Given the description of an element on the screen output the (x, y) to click on. 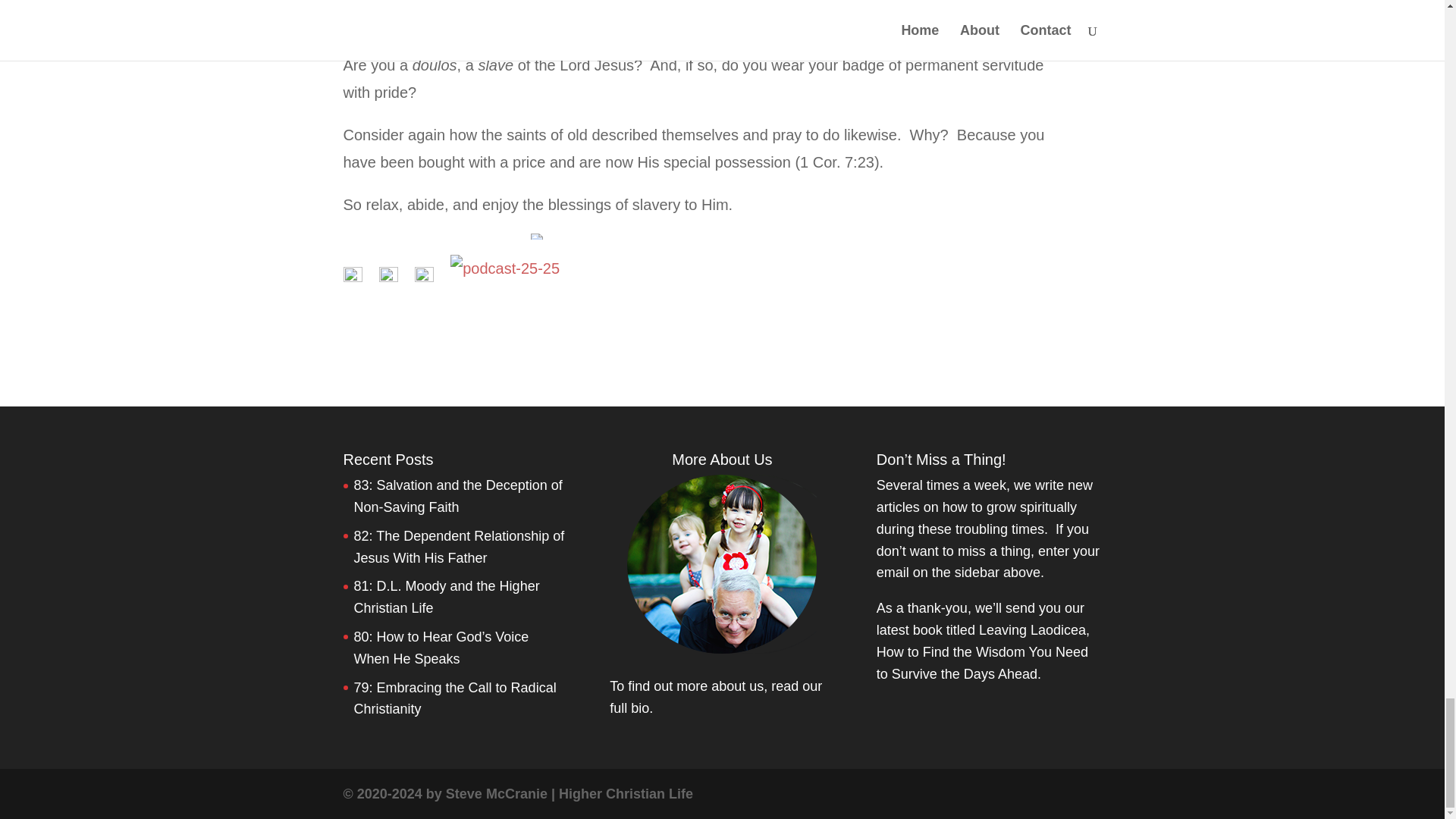
82: The Dependent Relationship of Jesus With His Father (458, 546)
81: D.L. Moody and the Higher Christian Life (445, 596)
83: Salvation and the Deception of Non-Saving Faith (457, 496)
79: Embracing the Call to Radical Christianity (454, 697)
